Given the description of an element on the screen output the (x, y) to click on. 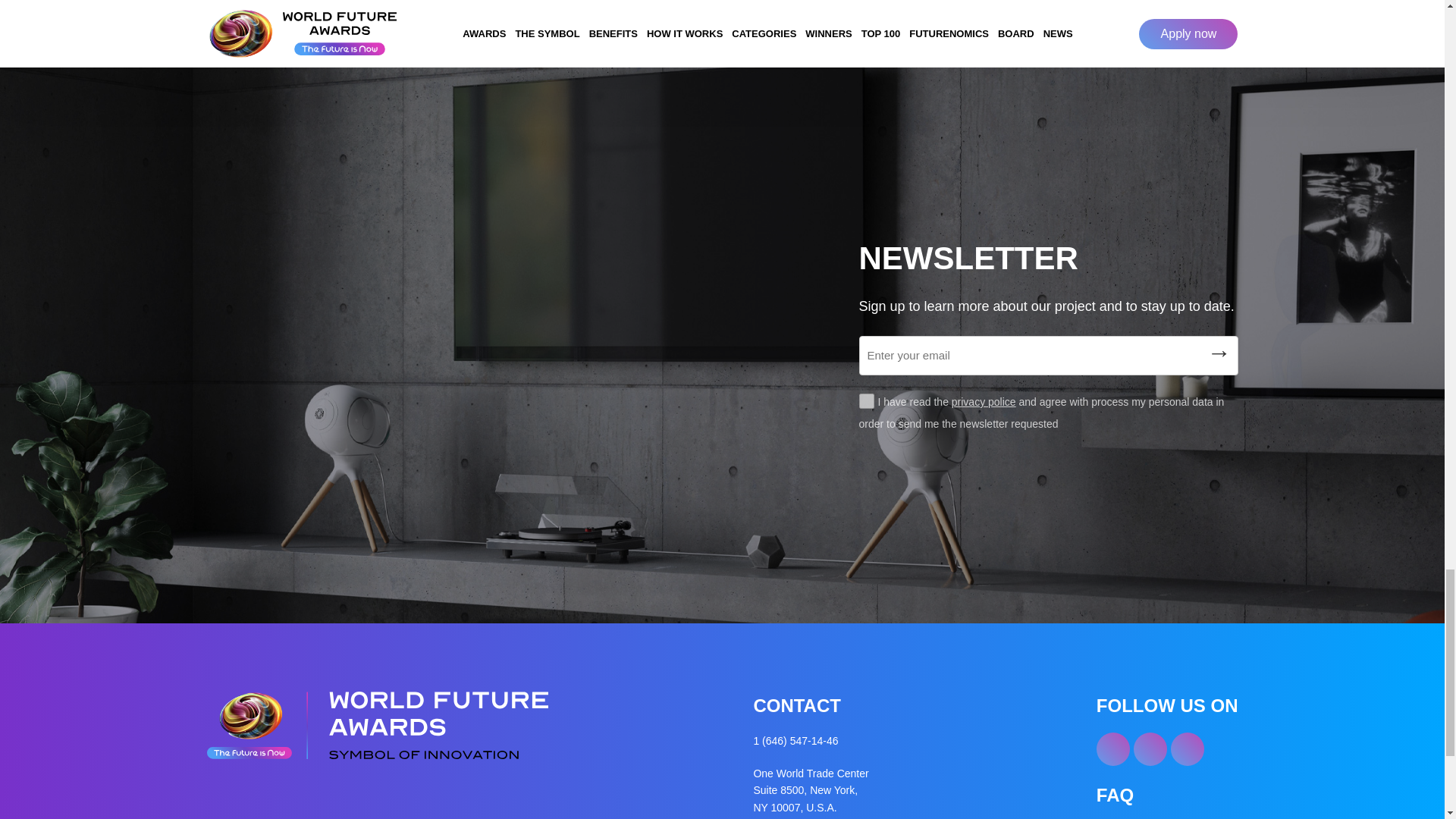
on (866, 400)
